Given the description of an element on the screen output the (x, y) to click on. 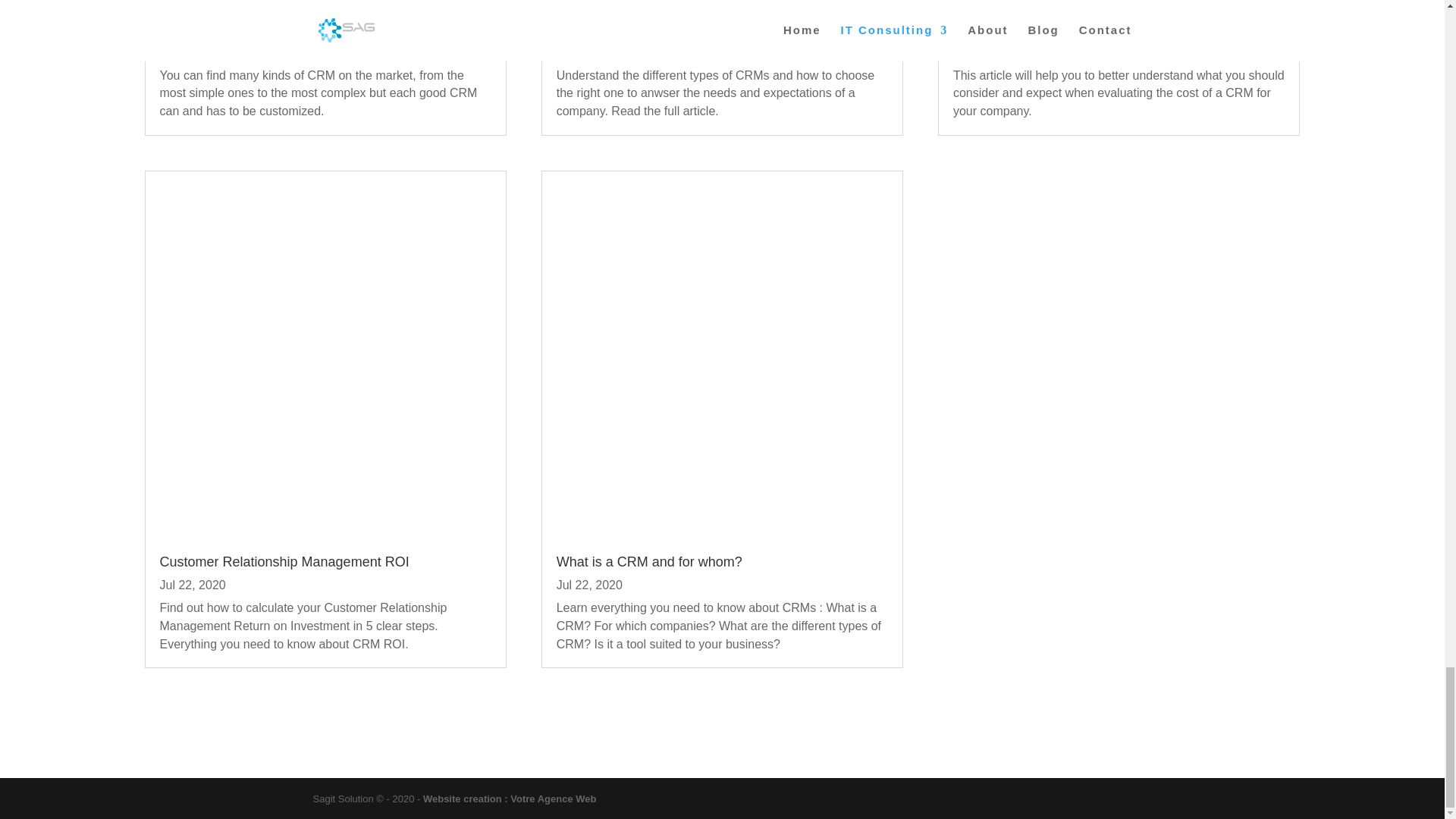
What is a CRM and for whom? (649, 561)
Different types of CRM (625, 29)
Customer Relationship Management ROI (283, 561)
All about CRM customization (246, 29)
